Given the description of an element on the screen output the (x, y) to click on. 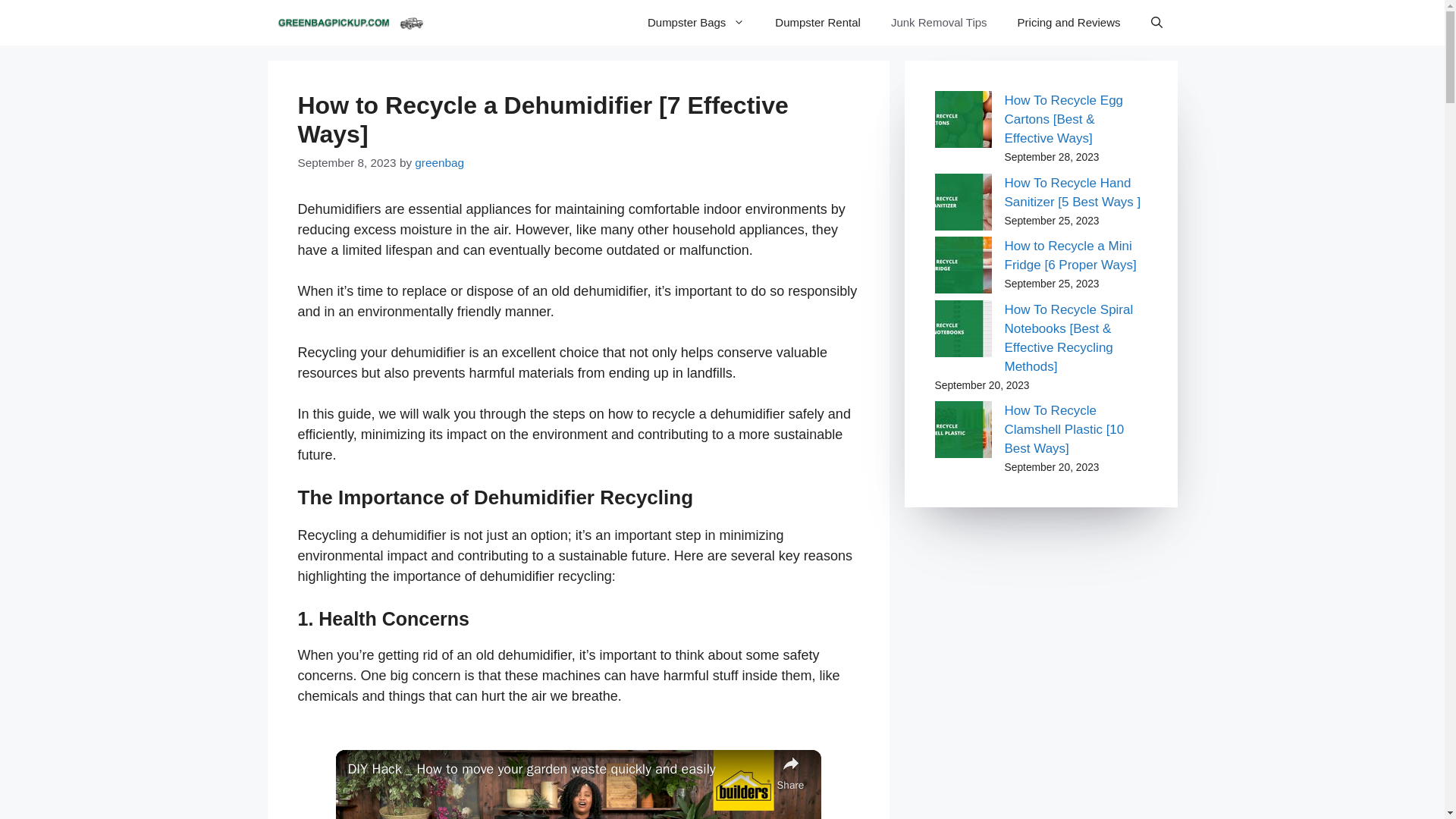
Junk Removal Tips (939, 22)
greenbag (439, 162)
Dumpster Rental (818, 22)
View all posts by greenbag (439, 162)
Dumpster Bags (695, 22)
Pricing and Reviews (1069, 22)
